Given the description of an element on the screen output the (x, y) to click on. 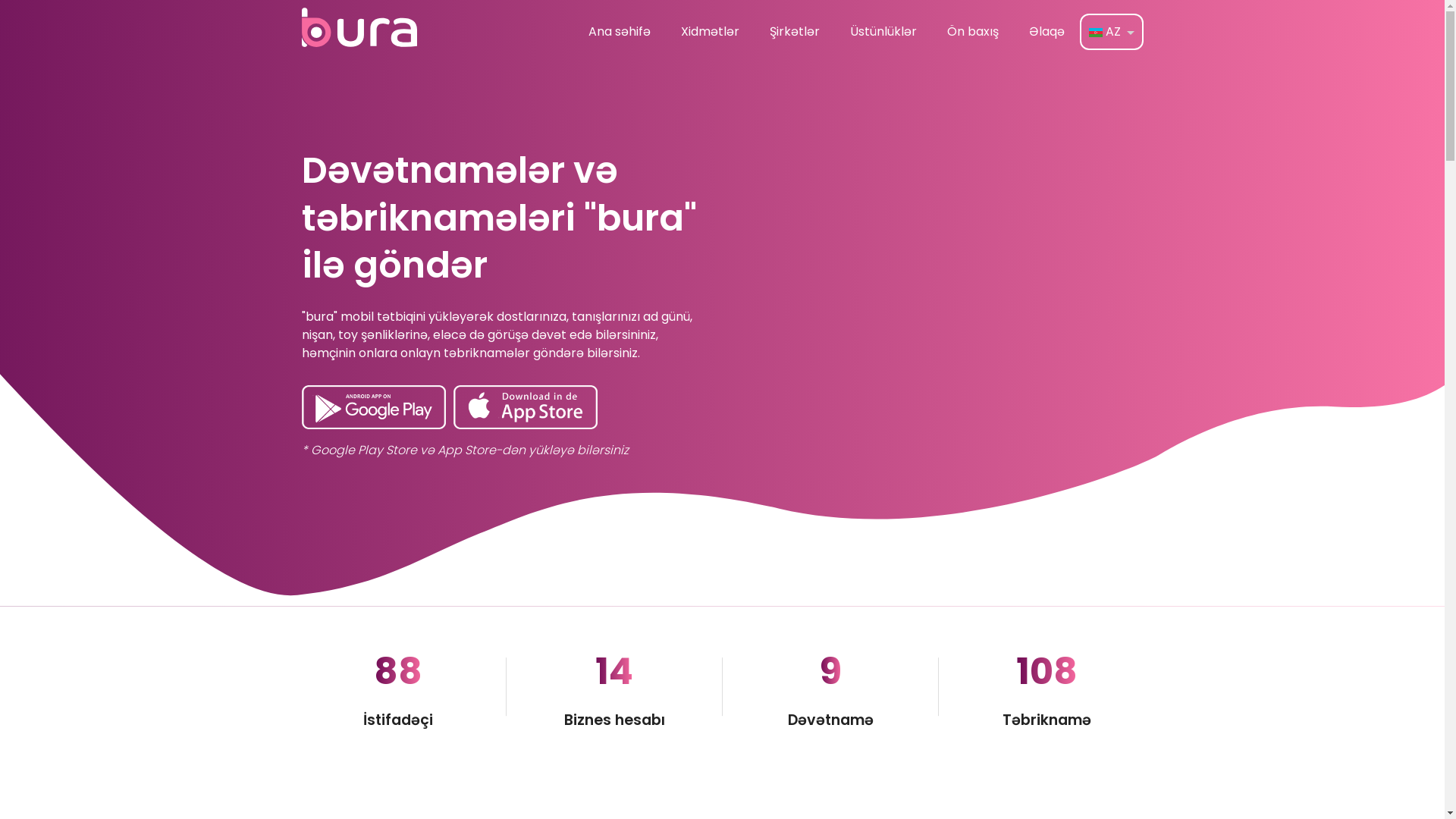
wemob.az Element type: text (1111, 790)
AZ Element type: text (1111, 31)
